Given the description of an element on the screen output the (x, y) to click on. 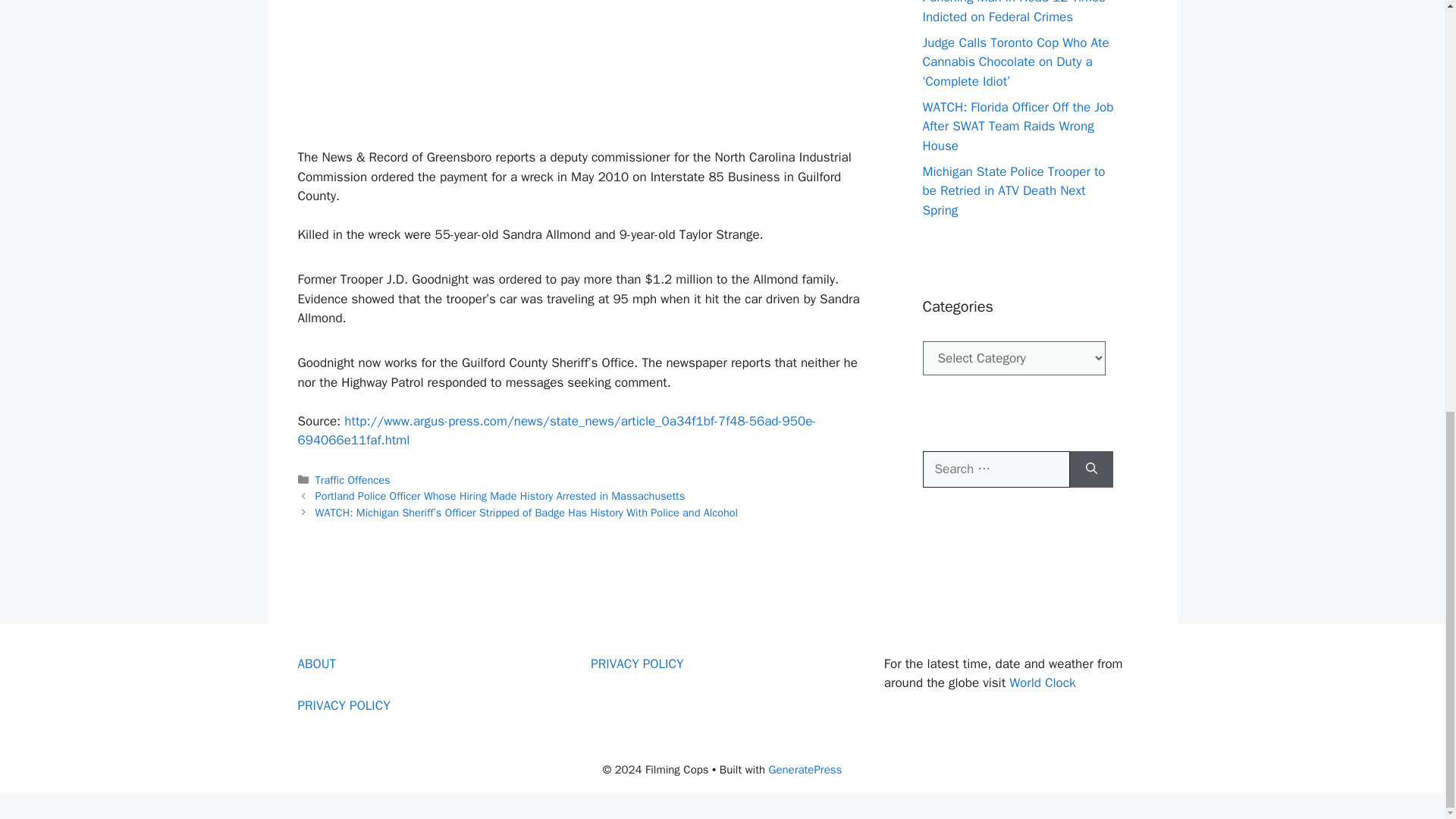
Traffic Offences (352, 479)
PRIVACY POLICY (343, 705)
GeneratePress (805, 769)
World Clock (1042, 682)
Search for: (994, 469)
PRIVACY POLICY (636, 662)
